Given the description of an element on the screen output the (x, y) to click on. 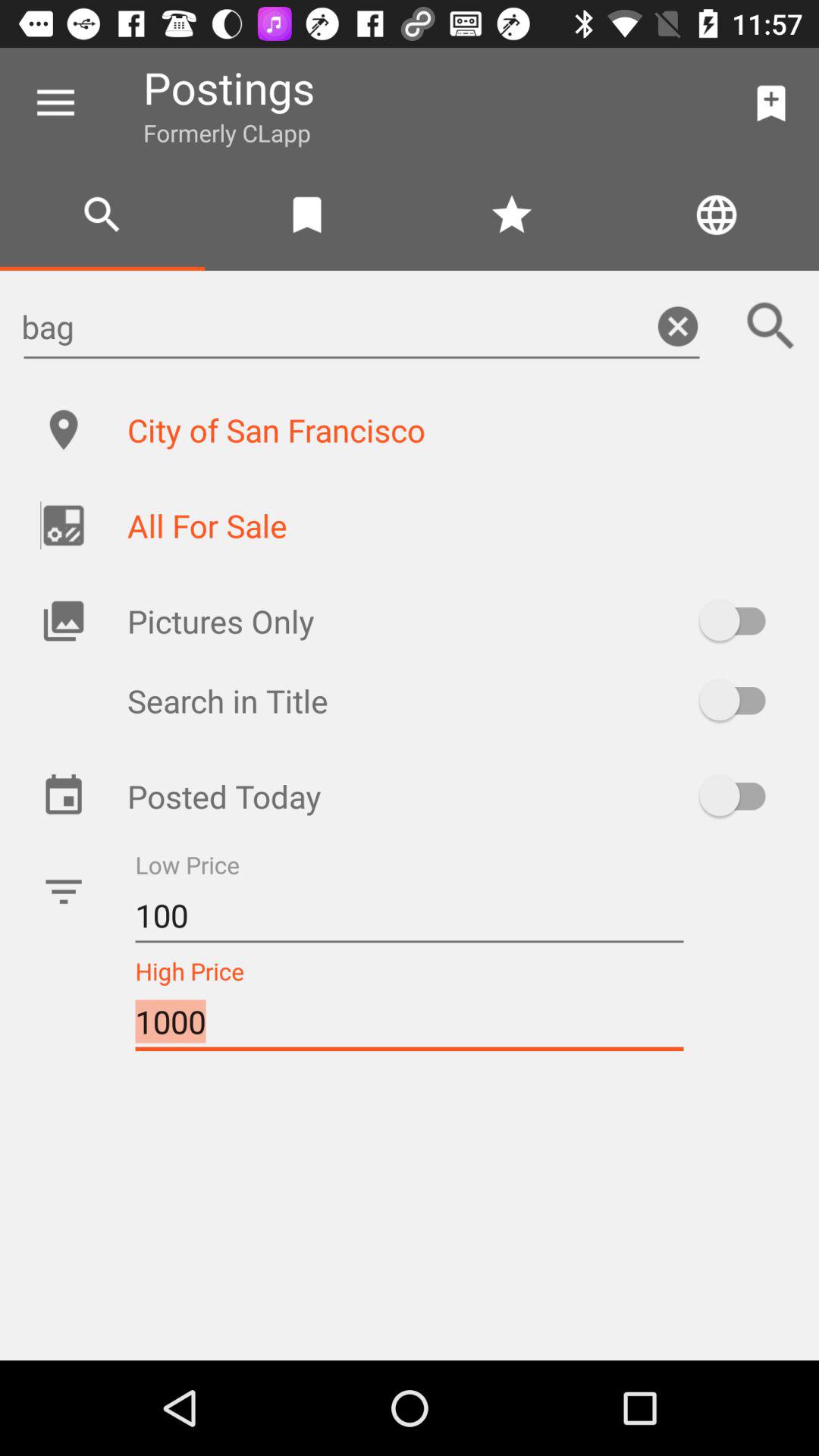
turn off the icon next to postings (55, 103)
